Given the description of an element on the screen output the (x, y) to click on. 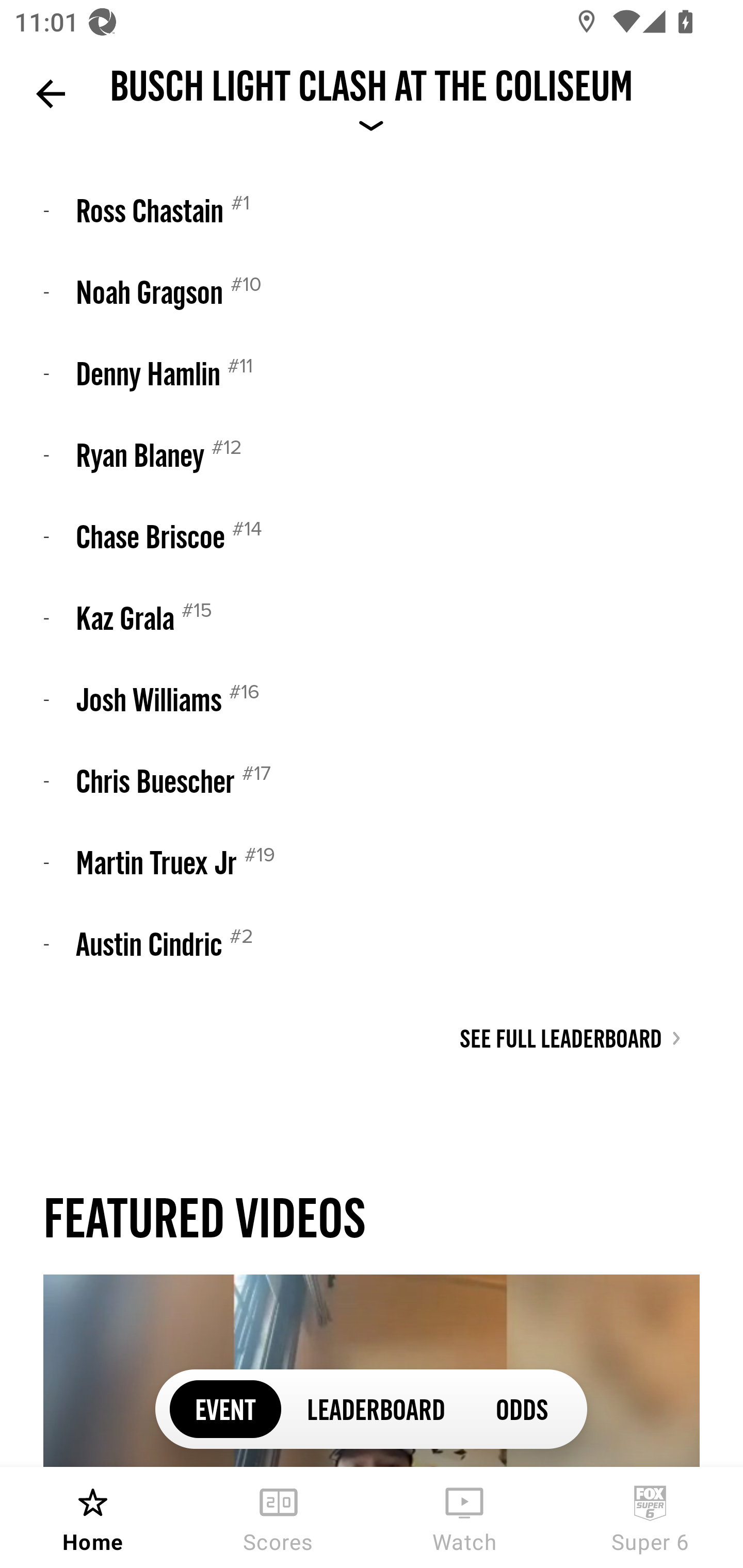
Navigate up (50, 93)
- Ross Chastain #1 (371, 209)
- Noah Gragson #10 (371, 291)
- Denny Hamlin #11 (371, 373)
- Ryan Blaney #12 (371, 454)
- Chase Briscoe #14 (371, 536)
- Kaz Grala #15 (371, 617)
- Josh Williams #16 (371, 699)
- Chris Buescher #17 (371, 780)
- Martin Truex Jr #19 (371, 862)
- Austin Cindric #2 (371, 943)
SEE FULL LEADERBOARD (571, 1038)
FEATURED VIDEOS (204, 1217)
LEADERBOARD (375, 1408)
ODDS (521, 1408)
Scores (278, 1517)
Watch (464, 1517)
Super 6 (650, 1517)
